Given the description of an element on the screen output the (x, y) to click on. 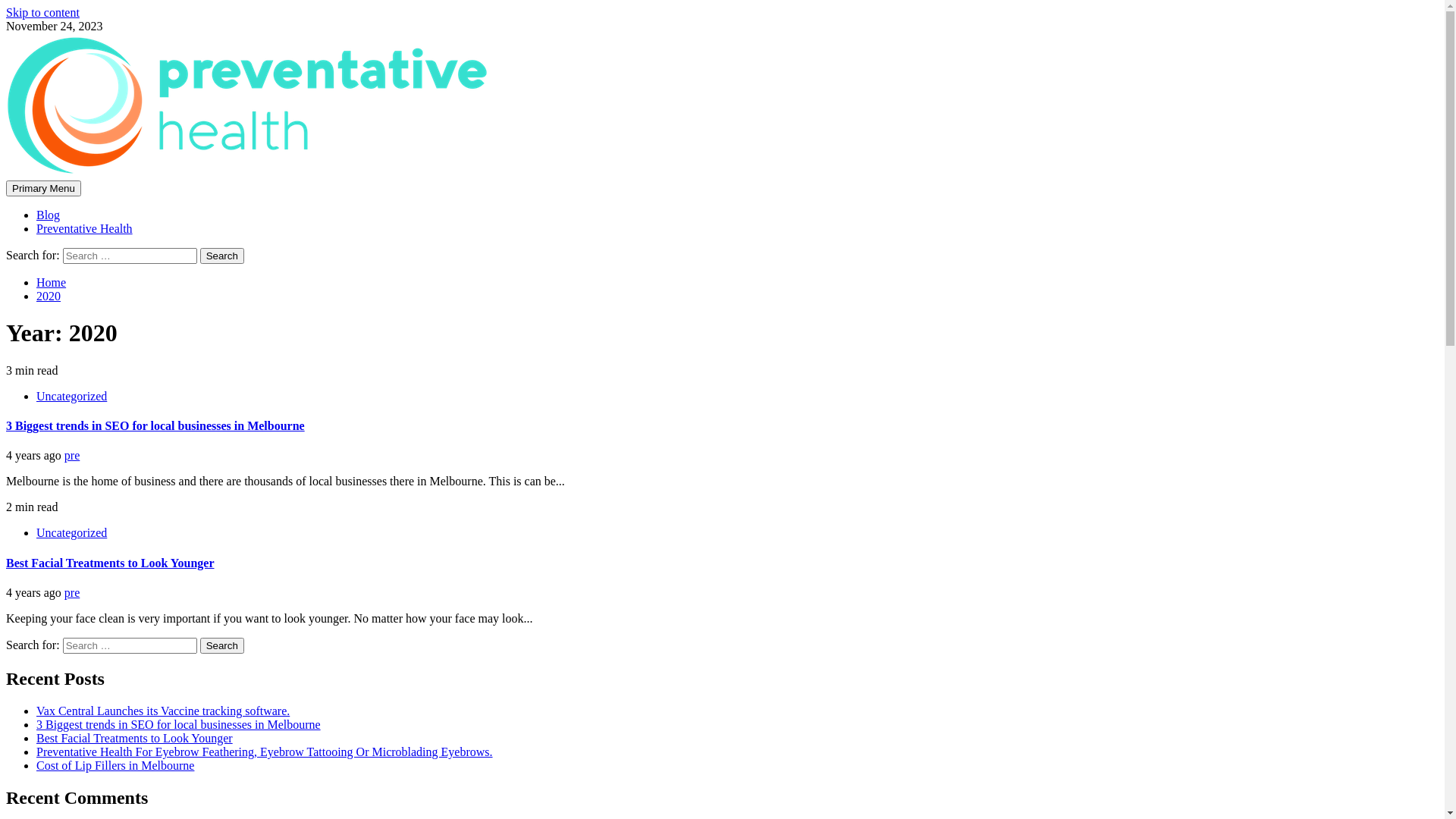
Search Element type: text (222, 255)
Cost of Lip Fillers in Melbourne Element type: text (115, 765)
pre Element type: text (71, 454)
Uncategorized Element type: text (71, 532)
2020 Element type: text (48, 295)
Vax Central Launches its Vaccine tracking software. Element type: text (162, 710)
Primary Menu Element type: text (43, 188)
Best Facial Treatments to Look Younger Element type: text (110, 562)
pre Element type: text (71, 592)
Blog Element type: text (47, 214)
3 Biggest trends in SEO for local businesses in Melbourne Element type: text (178, 724)
Uncategorized Element type: text (71, 395)
Preventative Health Element type: text (84, 228)
Home Element type: text (50, 282)
Skip to content Element type: text (42, 12)
Best Facial Treatments to Look Younger Element type: text (134, 737)
3 Biggest trends in SEO for local businesses in Melbourne Element type: text (155, 425)
Search Element type: text (222, 645)
